Given the description of an element on the screen output the (x, y) to click on. 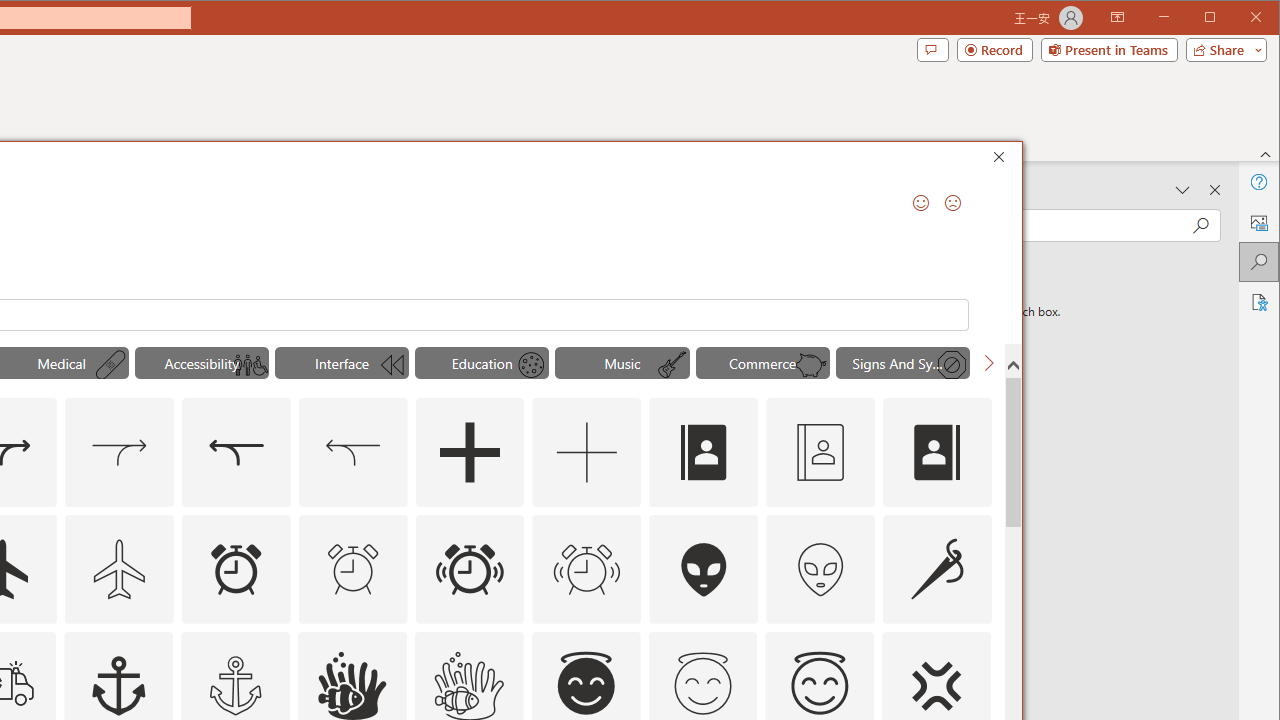
"Education" Icons. (481, 362)
AutomationID: Icons_AdhesiveBandage_M (111, 365)
outline (819, 686)
AutomationID: Icons_Beginning_M (390, 365)
